Given the description of an element on the screen output the (x, y) to click on. 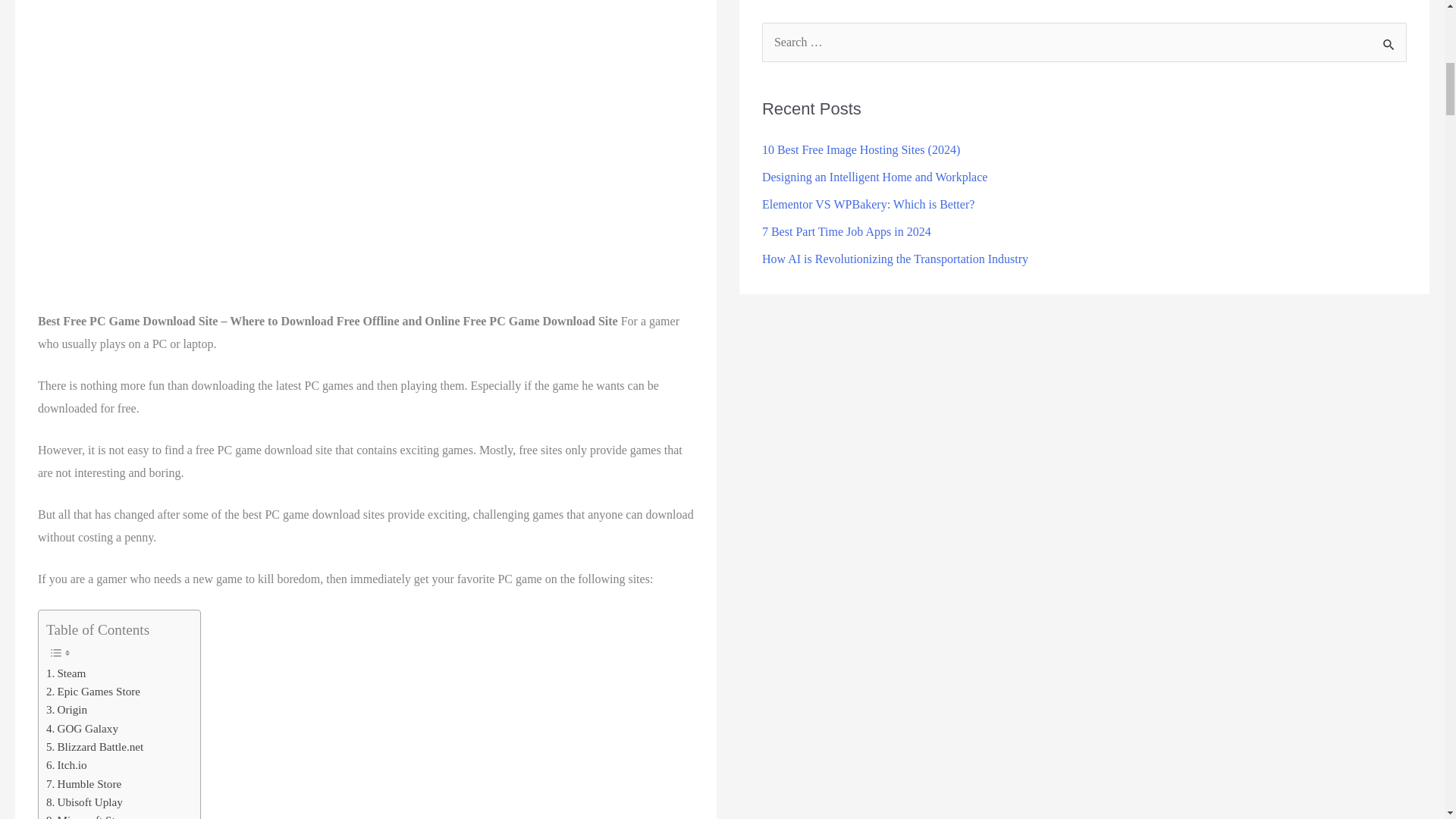
Epic Games Store (92, 691)
Steam (65, 673)
GOG Galaxy (81, 728)
Origin (66, 710)
Microsoft Store (87, 815)
Blizzard Battle.net (94, 746)
Humble Store (83, 783)
Itch.io (66, 764)
Ubisoft Uplay (84, 802)
